Given the description of an element on the screen output the (x, y) to click on. 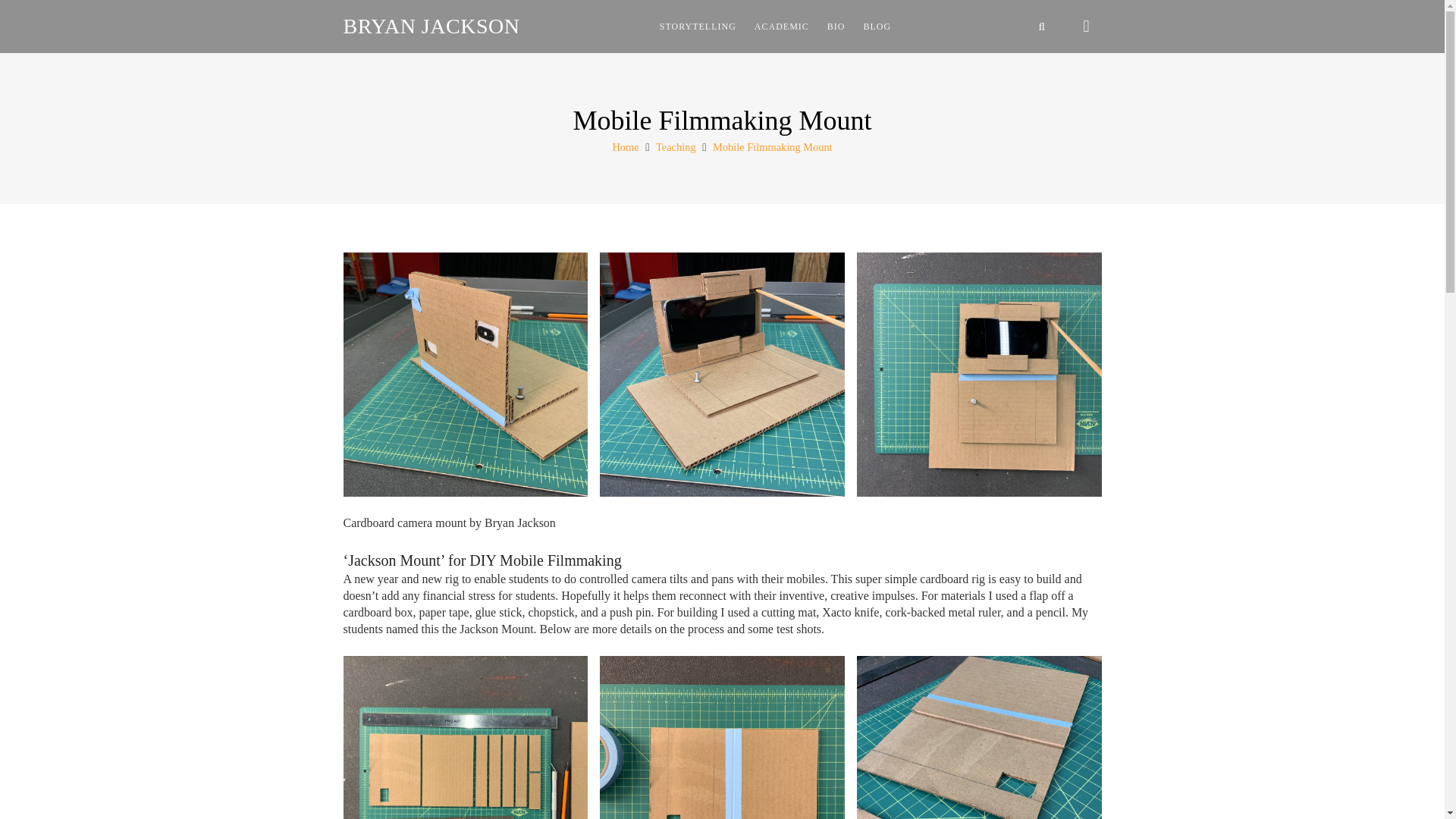
BRYAN JACKSON (430, 25)
Mobile Filmmaking Mount (772, 146)
Teaching (675, 146)
BLOG (877, 26)
Home (625, 146)
STORYTELLING (697, 26)
ACADEMIC (781, 26)
Instagram (1086, 26)
BIO (836, 26)
